Given the description of an element on the screen output the (x, y) to click on. 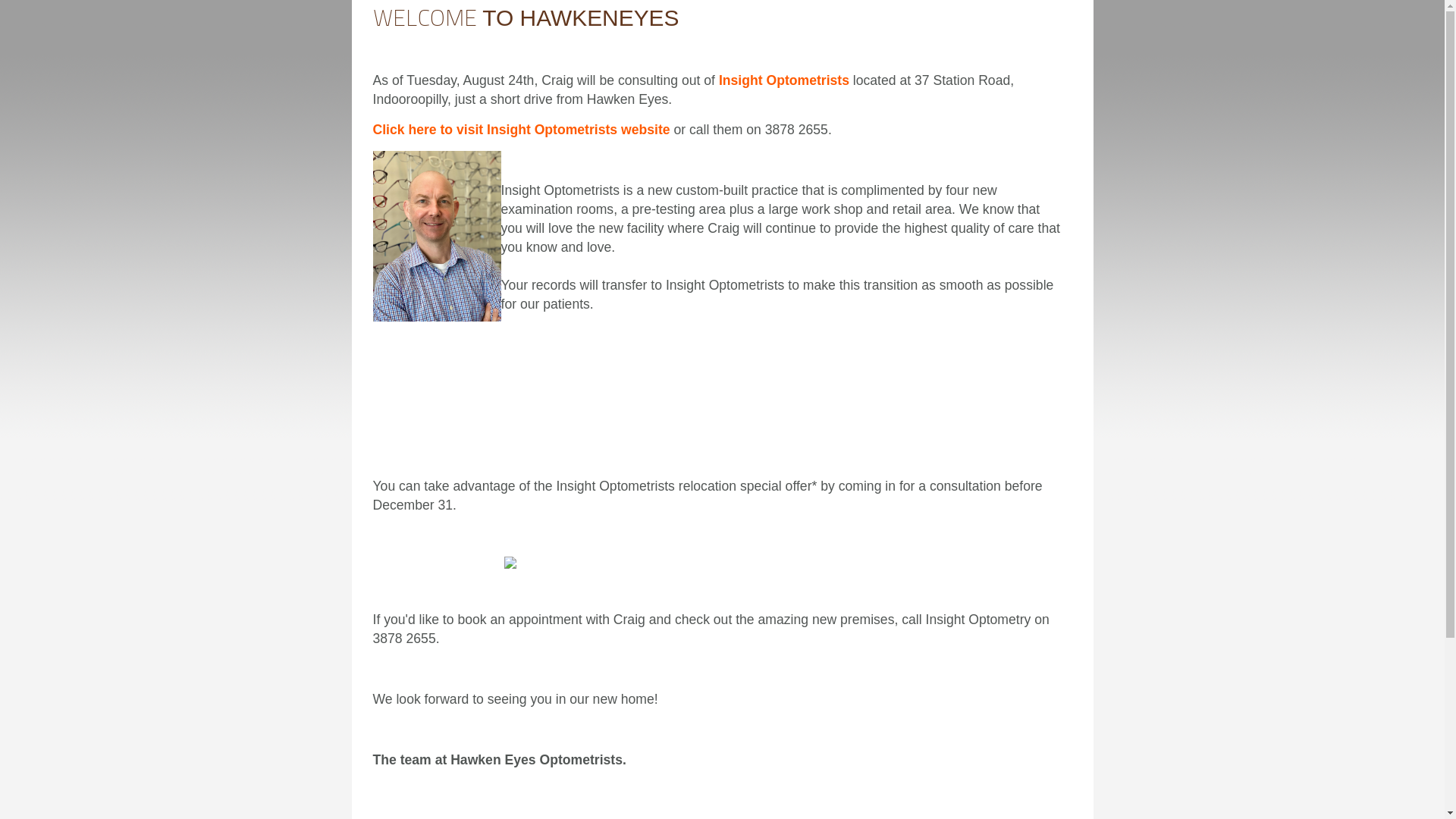
Click here to visit Insight Optometrists website Element type: text (521, 129)
Insight Optometrists Element type: text (783, 79)
